Given the description of an element on the screen output the (x, y) to click on. 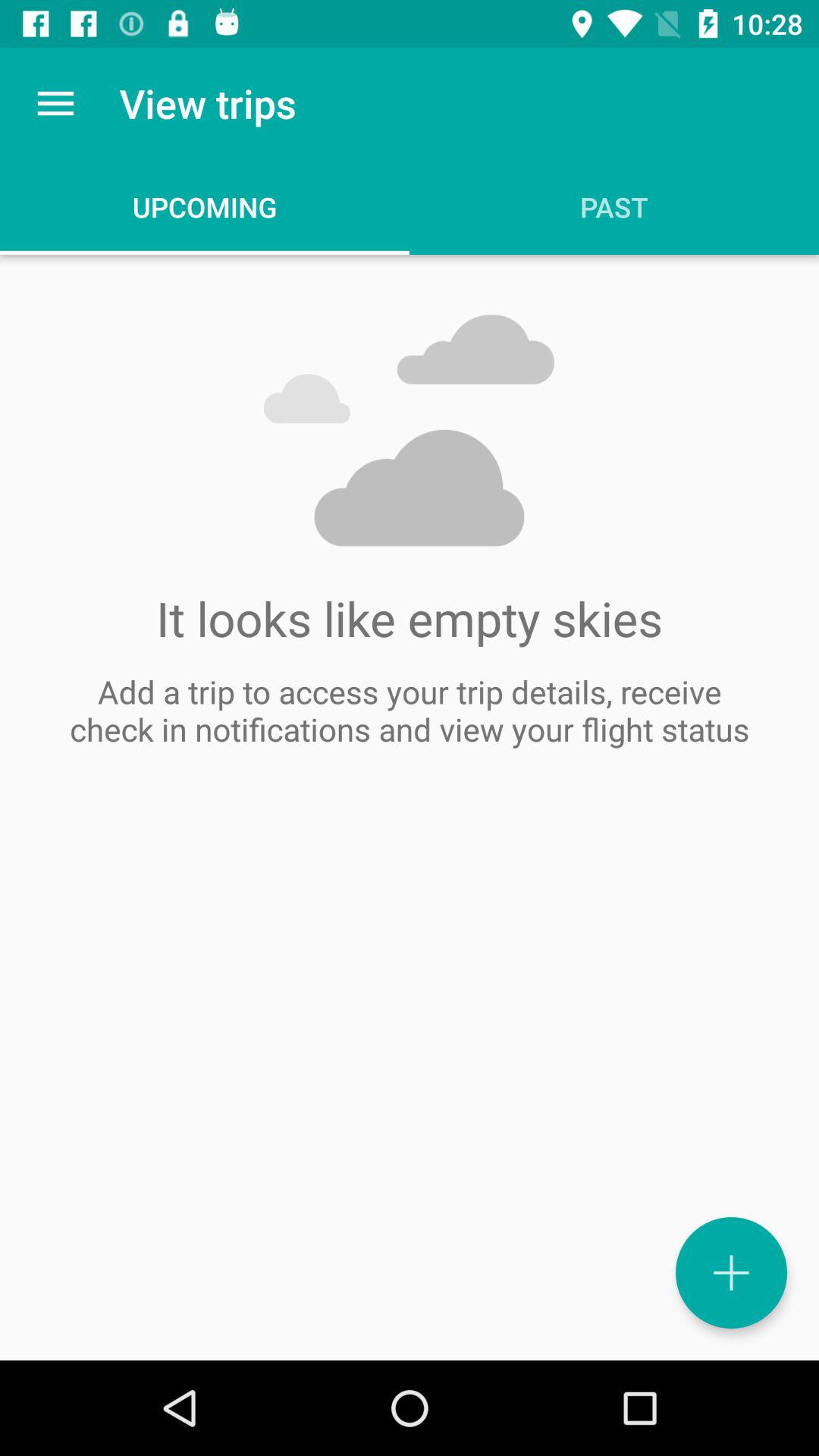
add trips (731, 1272)
